Given the description of an element on the screen output the (x, y) to click on. 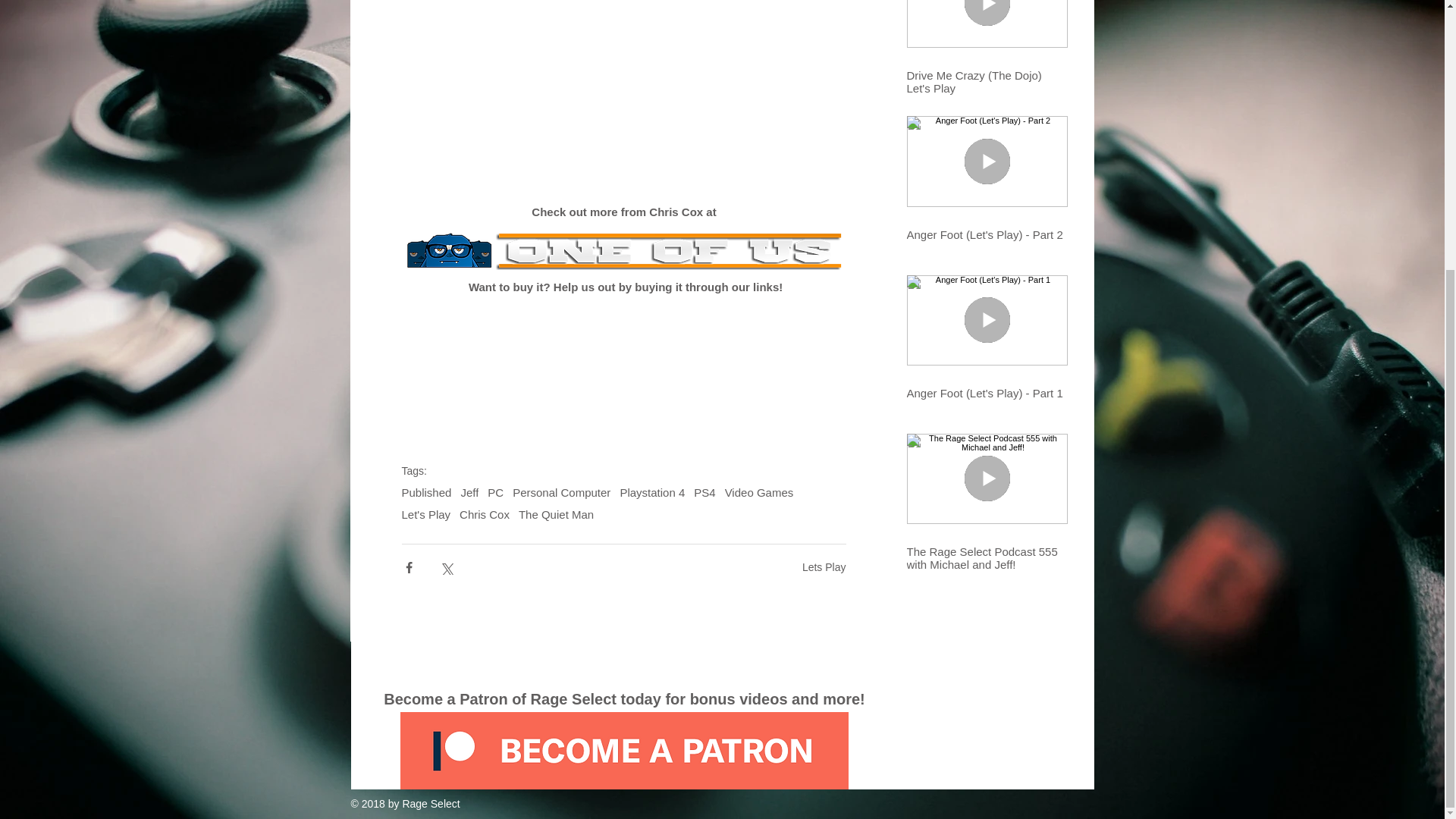
Personal Computer (561, 492)
The Quiet Man (556, 513)
PS4 (704, 492)
Video Games (759, 492)
The Rage Select Podcast 555 with Michael and Jeff! (987, 557)
Jeff (469, 492)
Chris Cox (484, 513)
Lets Play (823, 567)
remote content (623, 357)
Published (426, 492)
PC (495, 492)
Playstation 4 (652, 492)
Let's Play (426, 513)
